Given the description of an element on the screen output the (x, y) to click on. 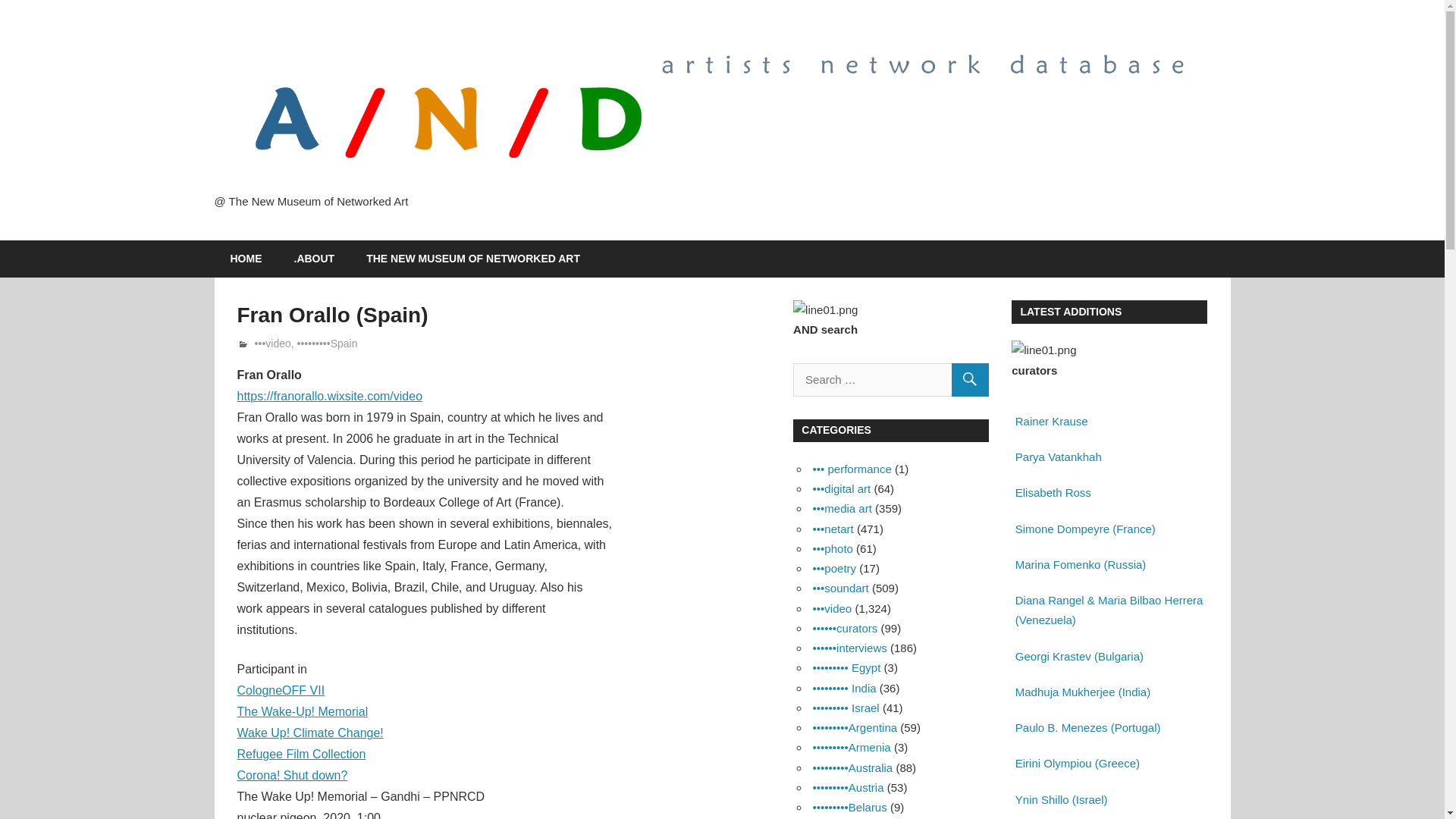
.ABOUT (314, 259)
infart (266, 343)
CologneOFF VII (279, 689)
THE NEW MUSEUM OF NETWORKED ART (472, 259)
Corona! Shut down? (291, 775)
Search for: (890, 379)
View all posts by infart (266, 343)
HOME (246, 259)
Wake Up! Climate Change! (308, 732)
6:17 pm (290, 343)
